Given the description of an element on the screen output the (x, y) to click on. 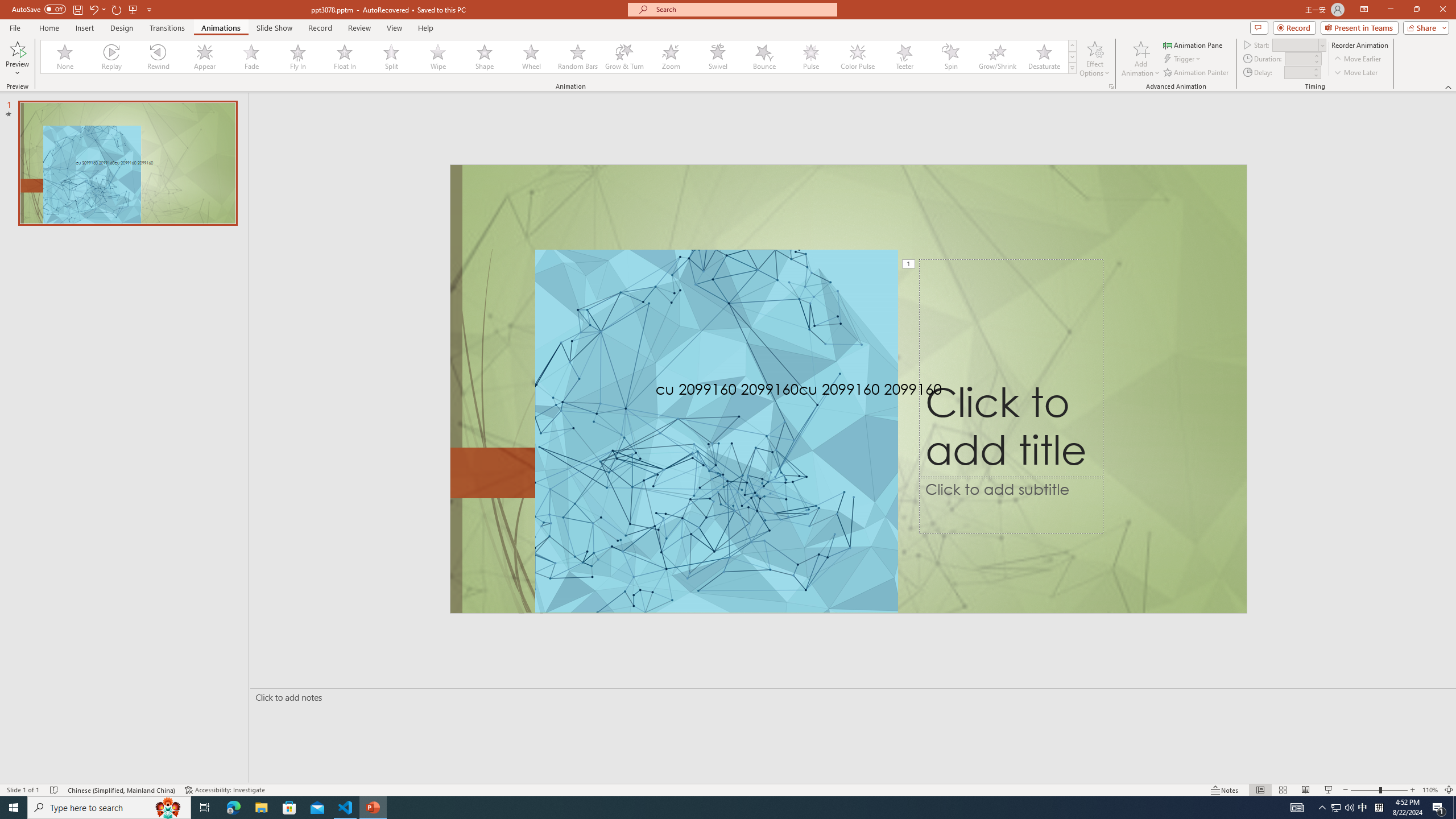
None (65, 56)
Grow/Shrink (997, 56)
Animation Painter (1196, 72)
Spin (950, 56)
Rewind (158, 56)
Zoom 110% (1430, 790)
